Given the description of an element on the screen output the (x, y) to click on. 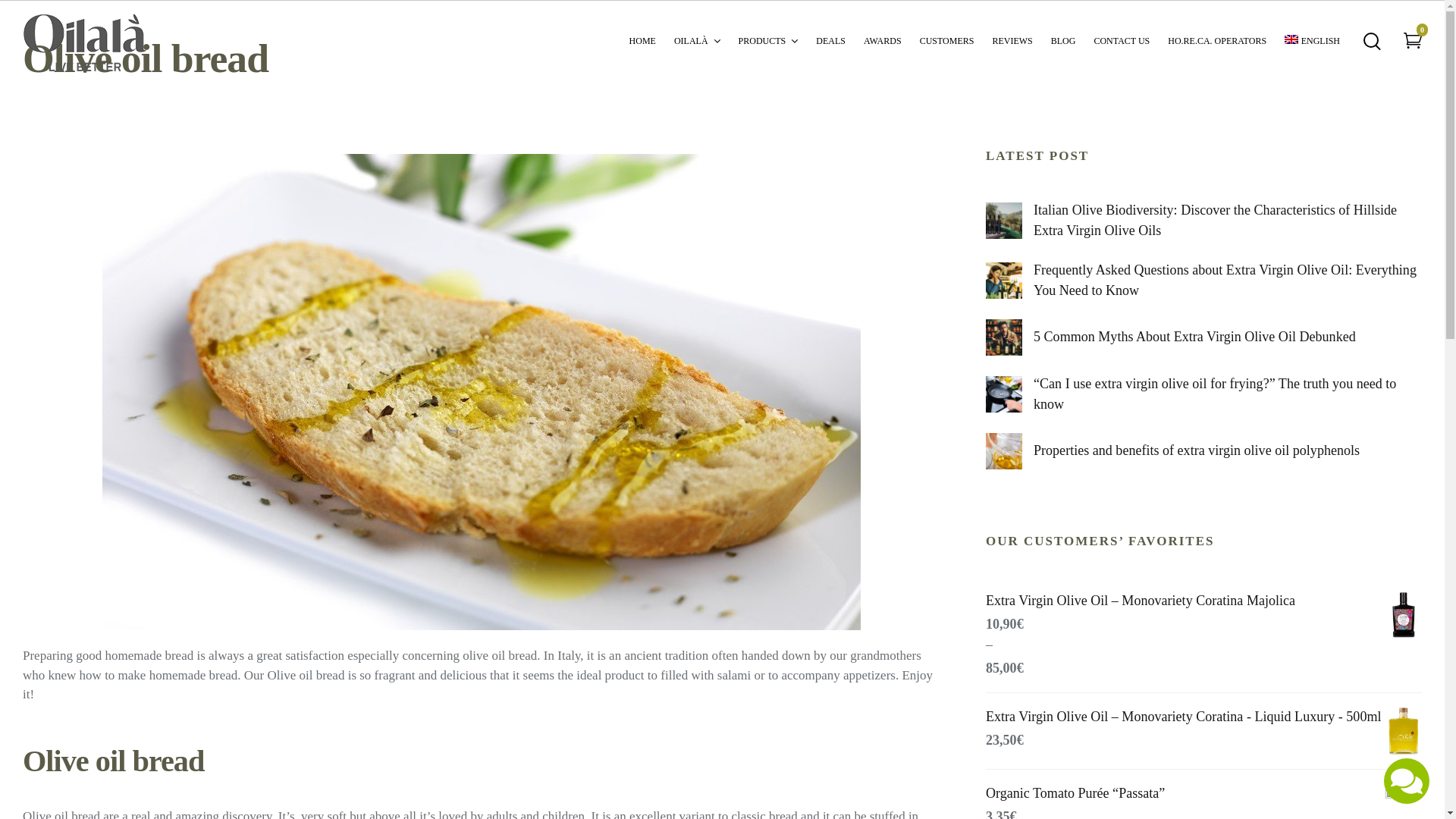
DEALS (830, 39)
CUSTOMERS (947, 39)
AWARDS (882, 39)
ENGLISH (1311, 39)
HO.RE.CA. OPERATORS (1216, 39)
REVIEWS (1011, 39)
HOME (642, 39)
